Given the description of an element on the screen output the (x, y) to click on. 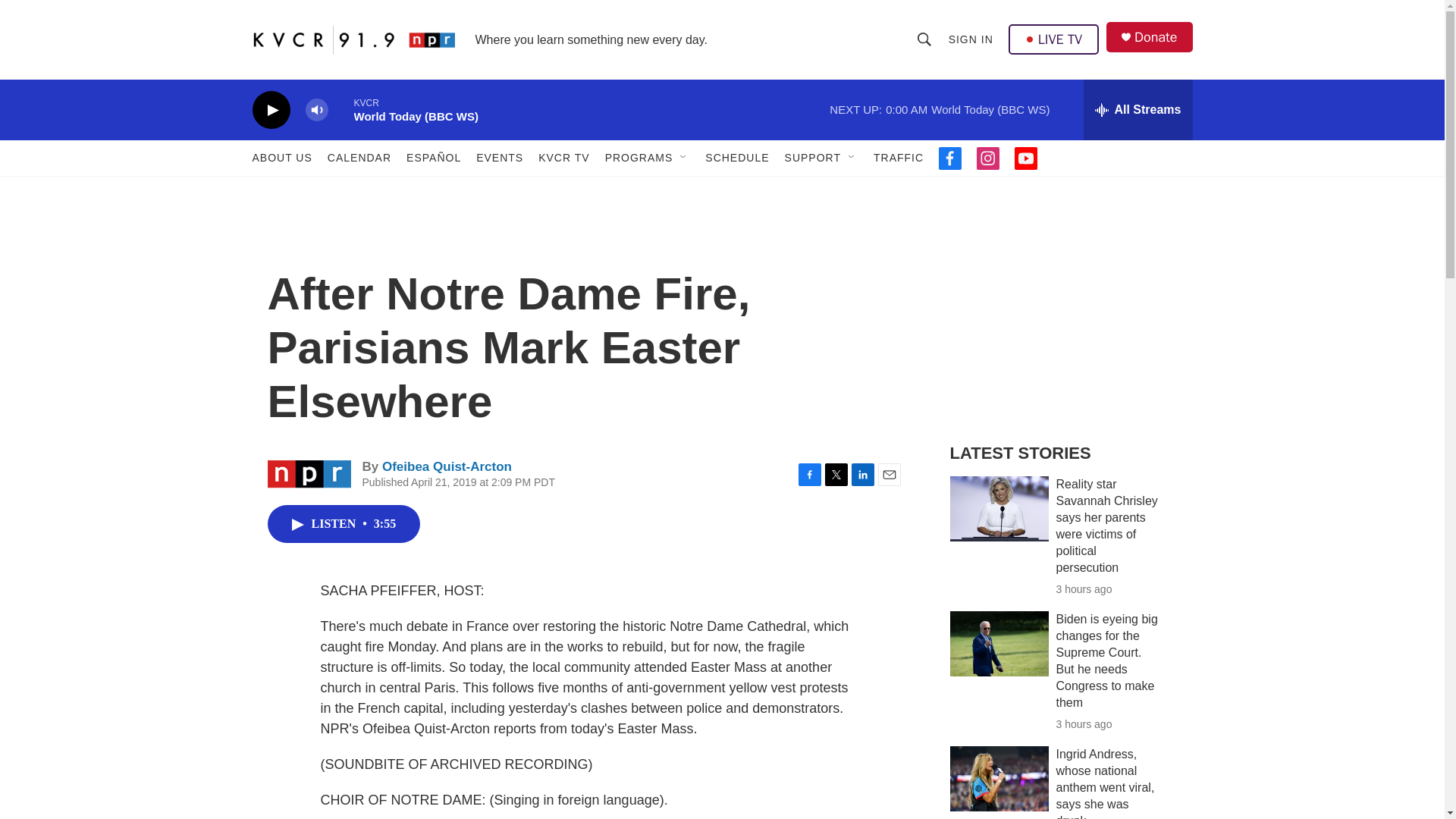
Show Search (924, 39)
3rd party ad content (1062, 316)
